Given the description of an element on the screen output the (x, y) to click on. 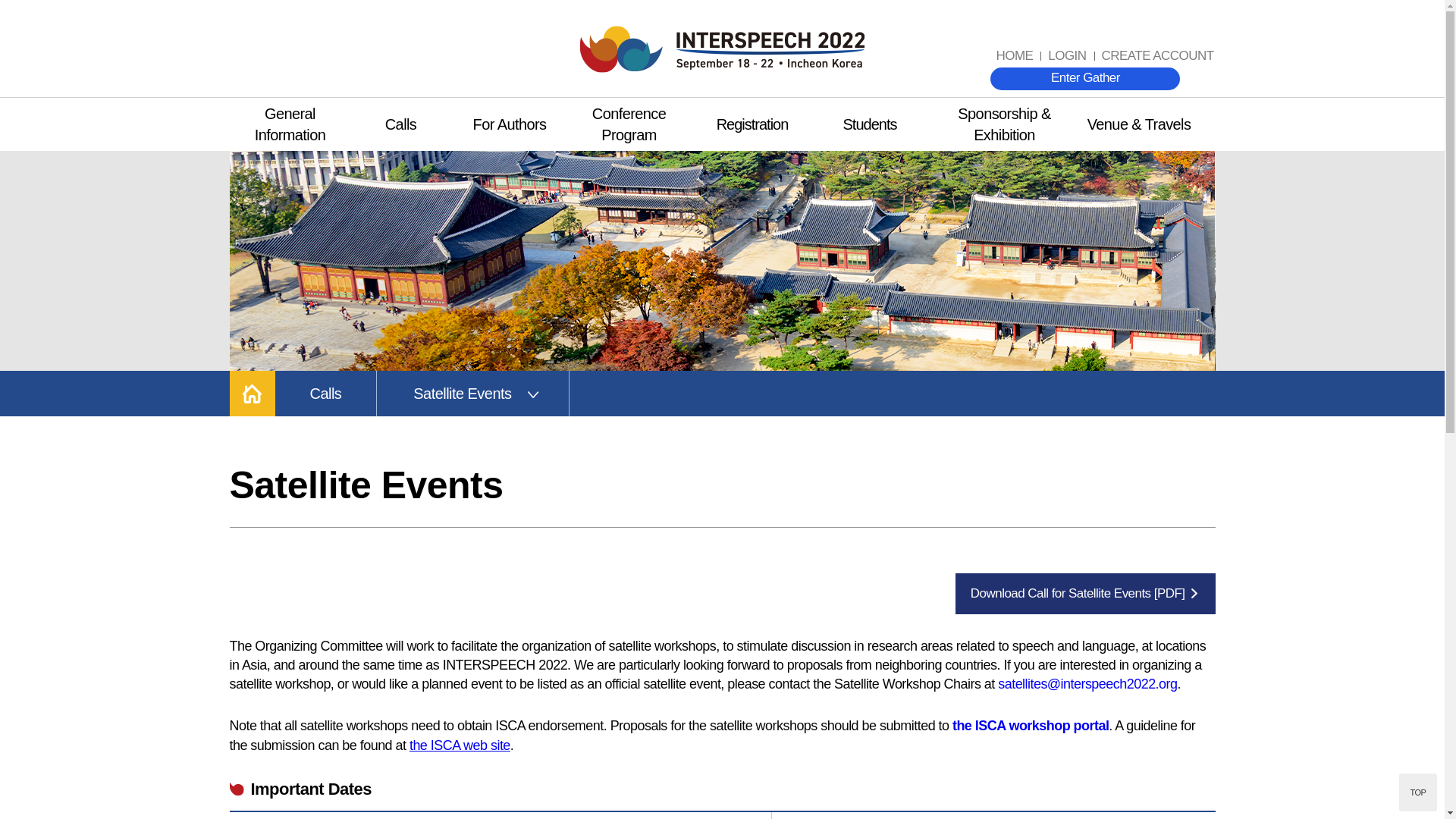
For Authors (508, 123)
Conference Program (629, 123)
INTERSPEECH 2022 (721, 48)
General Information (289, 123)
CREATE ACCOUNT (1157, 56)
Registration (751, 123)
Calls (399, 123)
Enter Gather (1084, 78)
LOGIN (1067, 56)
HOME (1014, 56)
